Given the description of an element on the screen output the (x, y) to click on. 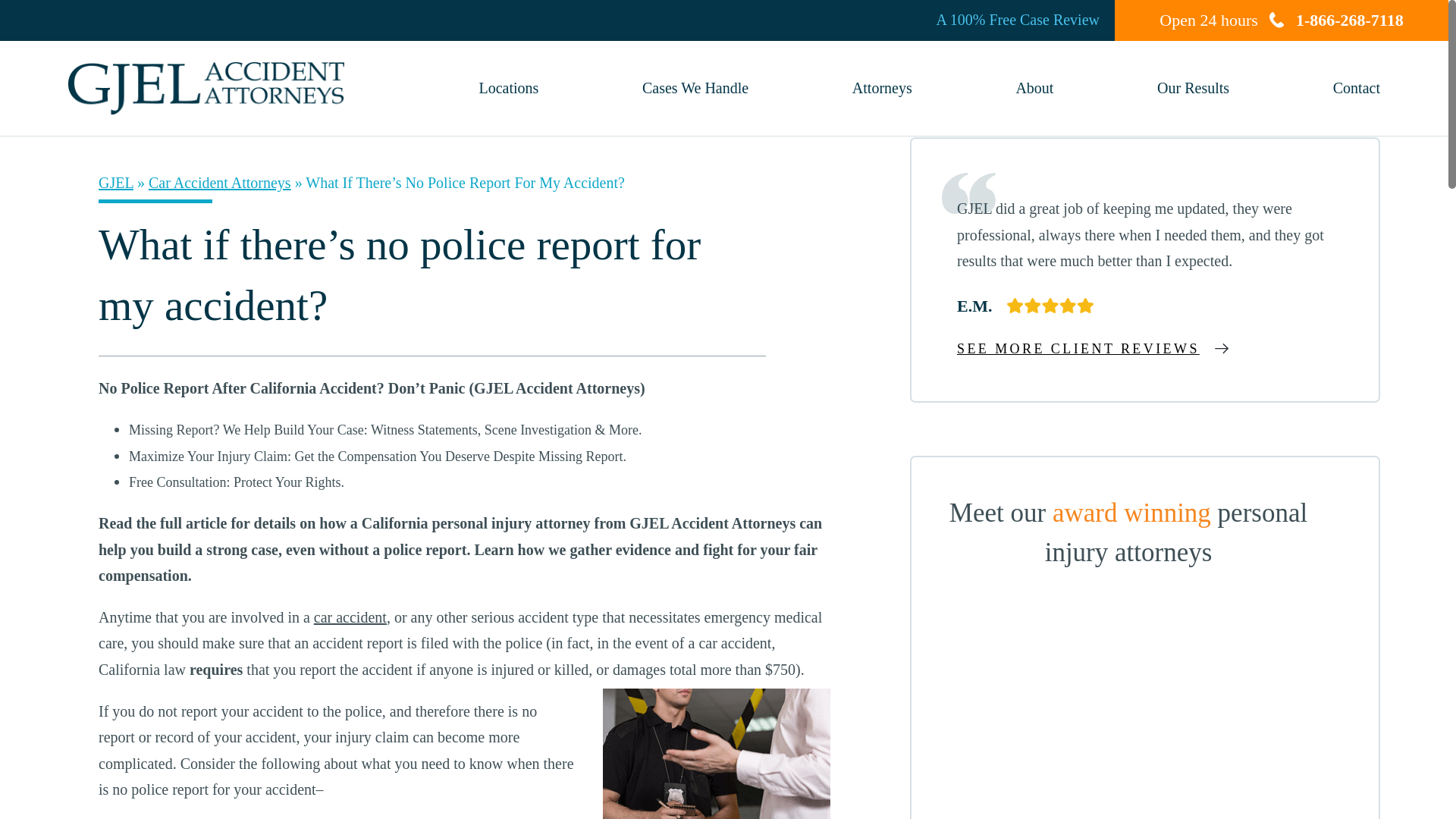
Attorneys (881, 87)
Cases We Handle (695, 87)
About (1033, 87)
Our Results (1192, 87)
Locations (508, 87)
